Given the description of an element on the screen output the (x, y) to click on. 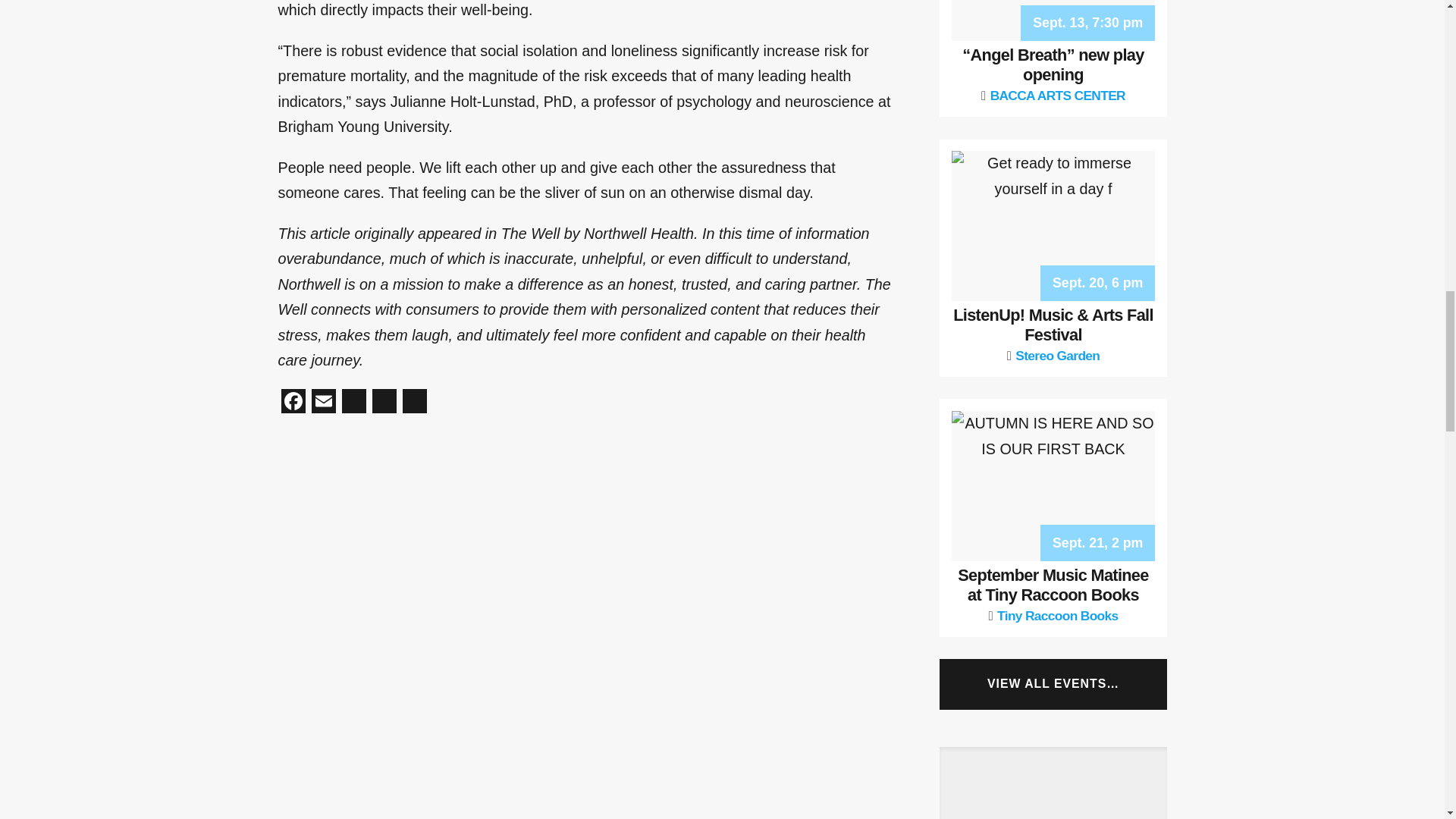
Reddit (352, 402)
Facebook (292, 402)
Email (322, 402)
X (383, 402)
